Given the description of an element on the screen output the (x, y) to click on. 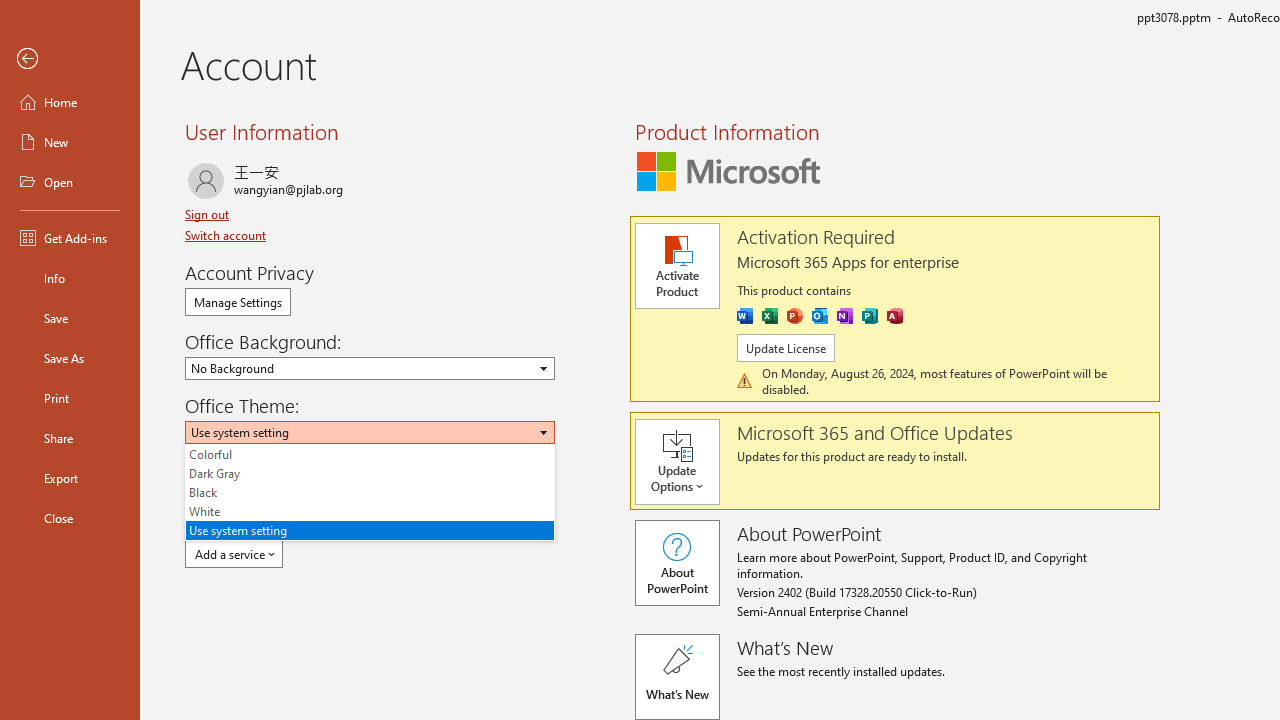
Sign out (208, 214)
Update Options (685, 461)
Print (69, 398)
Export (69, 477)
Back (69, 59)
Office Theme: (370, 492)
Office Background (370, 368)
Word (744, 316)
About PowerPoint (676, 562)
Save As (69, 357)
Activate Product (676, 265)
